Given the description of an element on the screen output the (x, y) to click on. 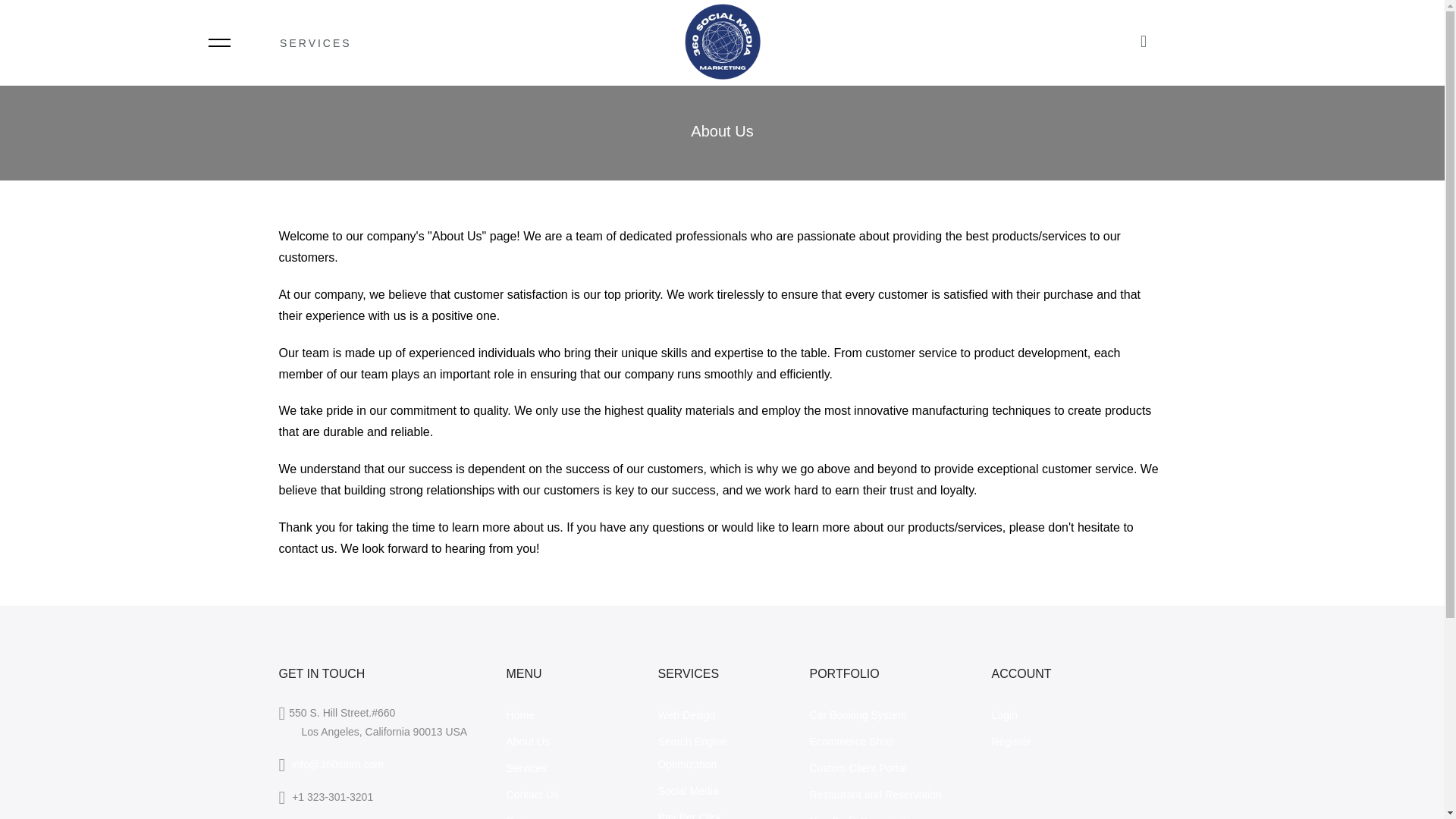
Home (520, 715)
Services (526, 767)
SERVICES (336, 42)
Register (1010, 741)
Ecommerce Shop (851, 741)
Custom Client Portal (858, 767)
Search Engine Optimization (693, 752)
Restaurant and Reservation (875, 794)
Pay Per Click (690, 815)
Contact Us (532, 794)
